Given the description of an element on the screen output the (x, y) to click on. 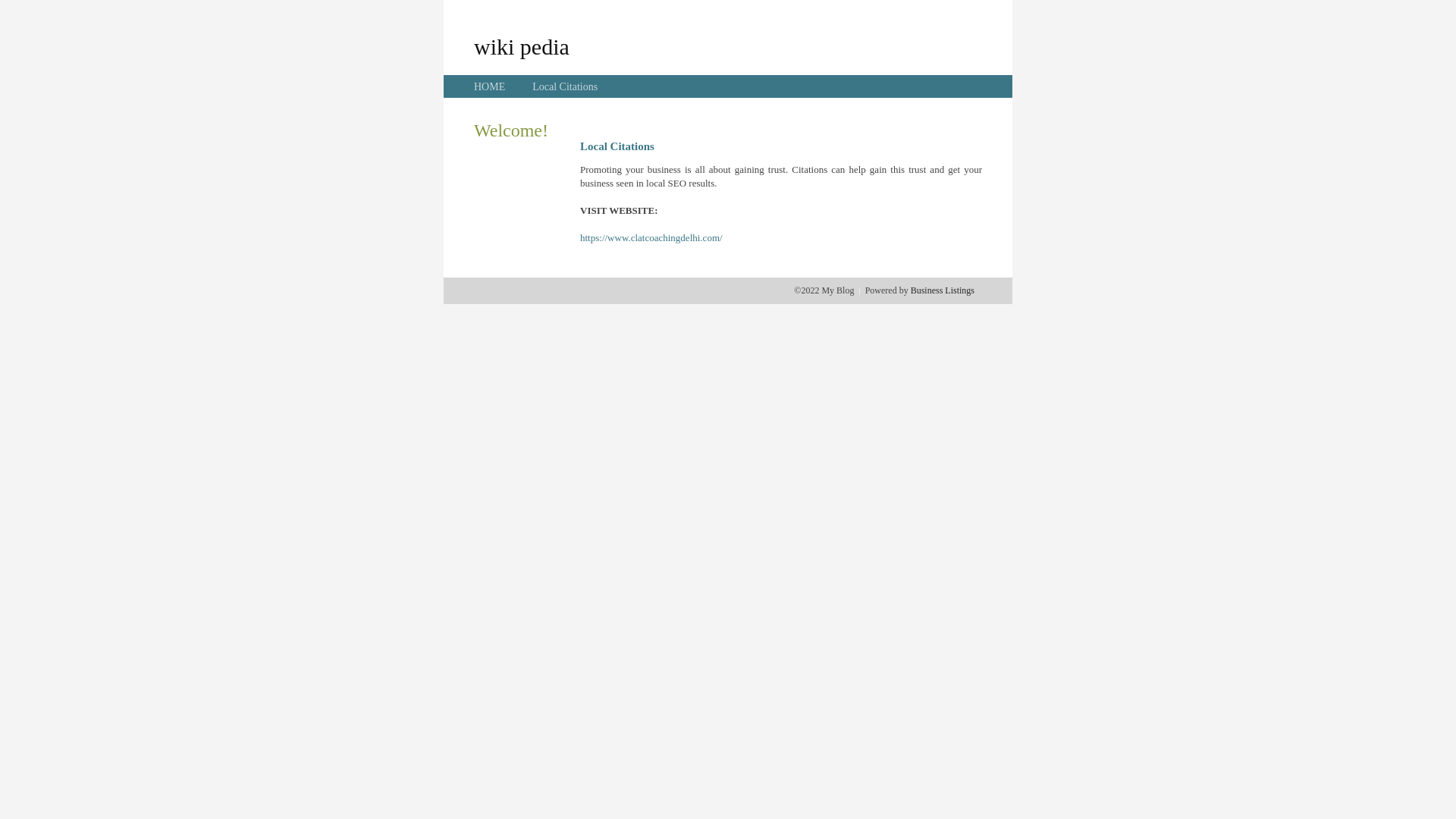
HOME Element type: text (489, 86)
Business Listings Element type: text (942, 290)
Local Citations Element type: text (564, 86)
https://www.clatcoachingdelhi.com/ Element type: text (651, 237)
wiki pedia Element type: text (521, 46)
